Given the description of an element on the screen output the (x, y) to click on. 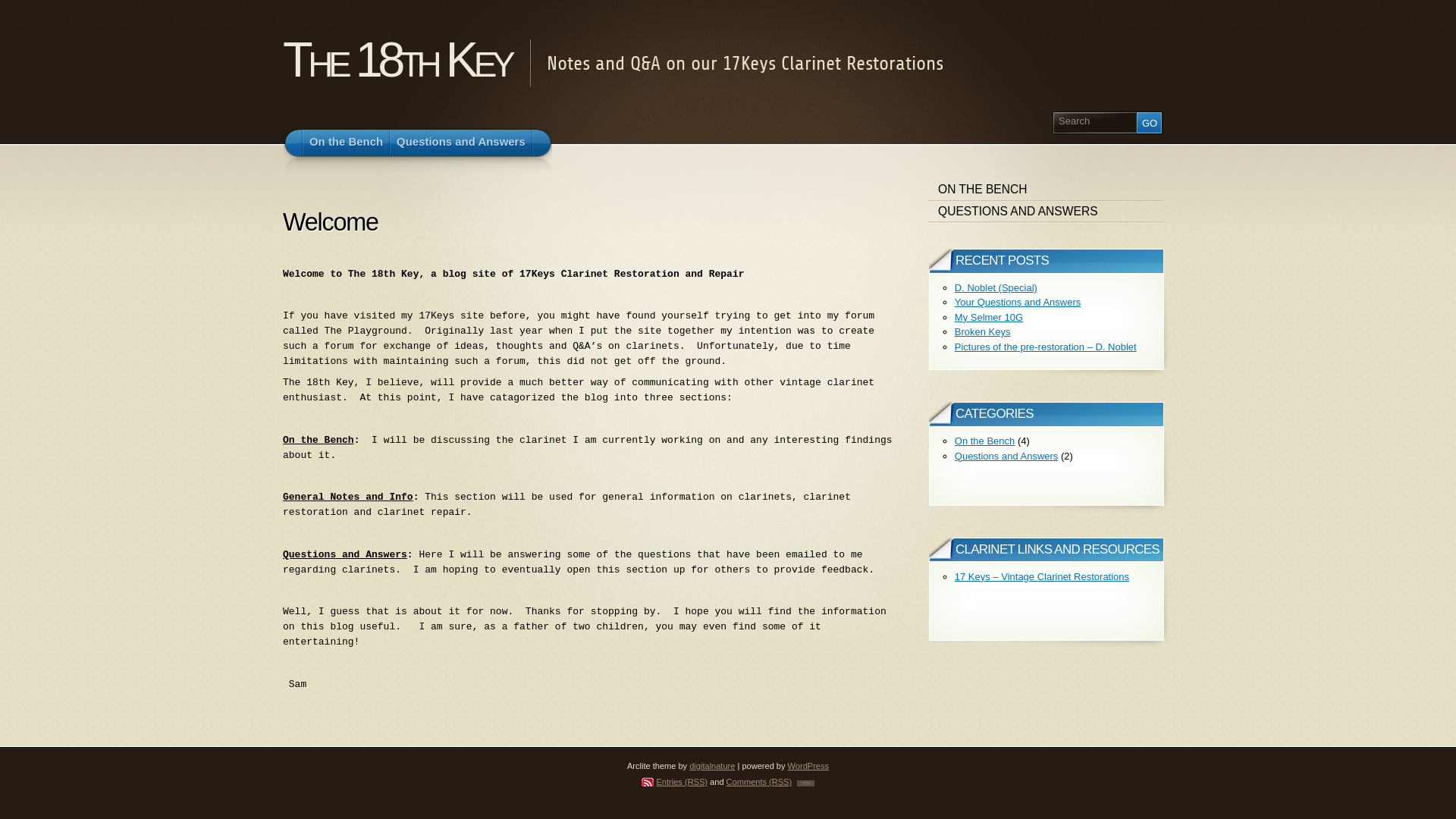
Broken Keys Element type: text (982, 331)
D. Noblet (Special) Element type: text (995, 287)
On the Bench Element type: text (346, 142)
TOP Element type: text (805, 783)
Go Element type: text (1149, 122)
QUESTIONS AND ANSWERS Element type: text (1046, 211)
Questions and Answers Element type: text (460, 142)
ON THE BENCH Element type: text (1046, 189)
On the Bench Element type: text (984, 440)
Comments (RSS) Element type: text (759, 781)
Entries (RSS) Element type: text (674, 781)
My Selmer 10G Element type: text (988, 317)
Questions and Answers Element type: text (1006, 455)
The 18th Key Element type: text (396, 59)
Your Questions and Answers Element type: text (1017, 301)
WordPress Element type: text (807, 765)
digitalnature Element type: text (711, 765)
